Given the description of an element on the screen output the (x, y) to click on. 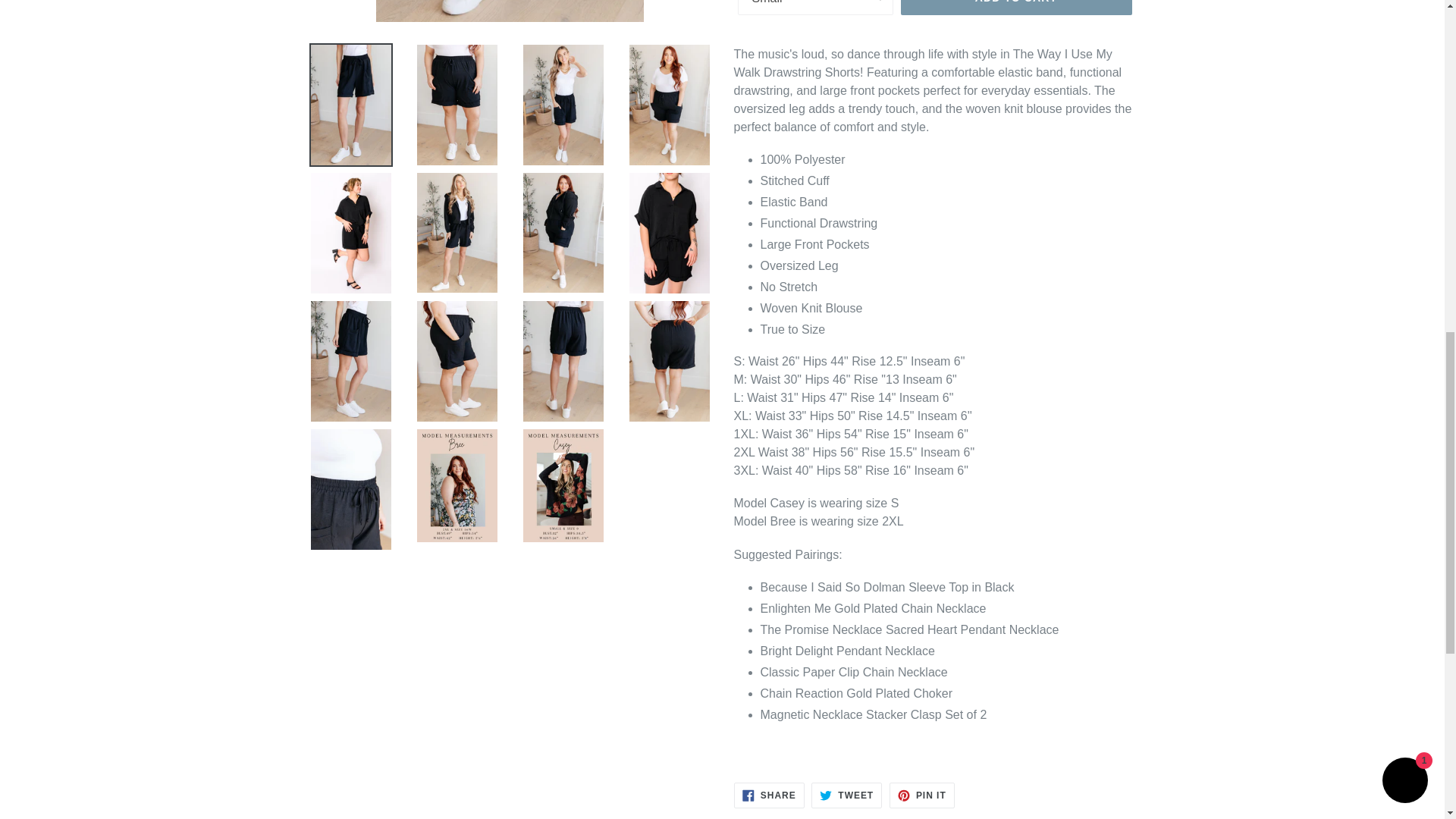
Share on Facebook (769, 795)
Tweet on Twitter (846, 795)
Pin on Pinterest (922, 795)
